Given the description of an element on the screen output the (x, y) to click on. 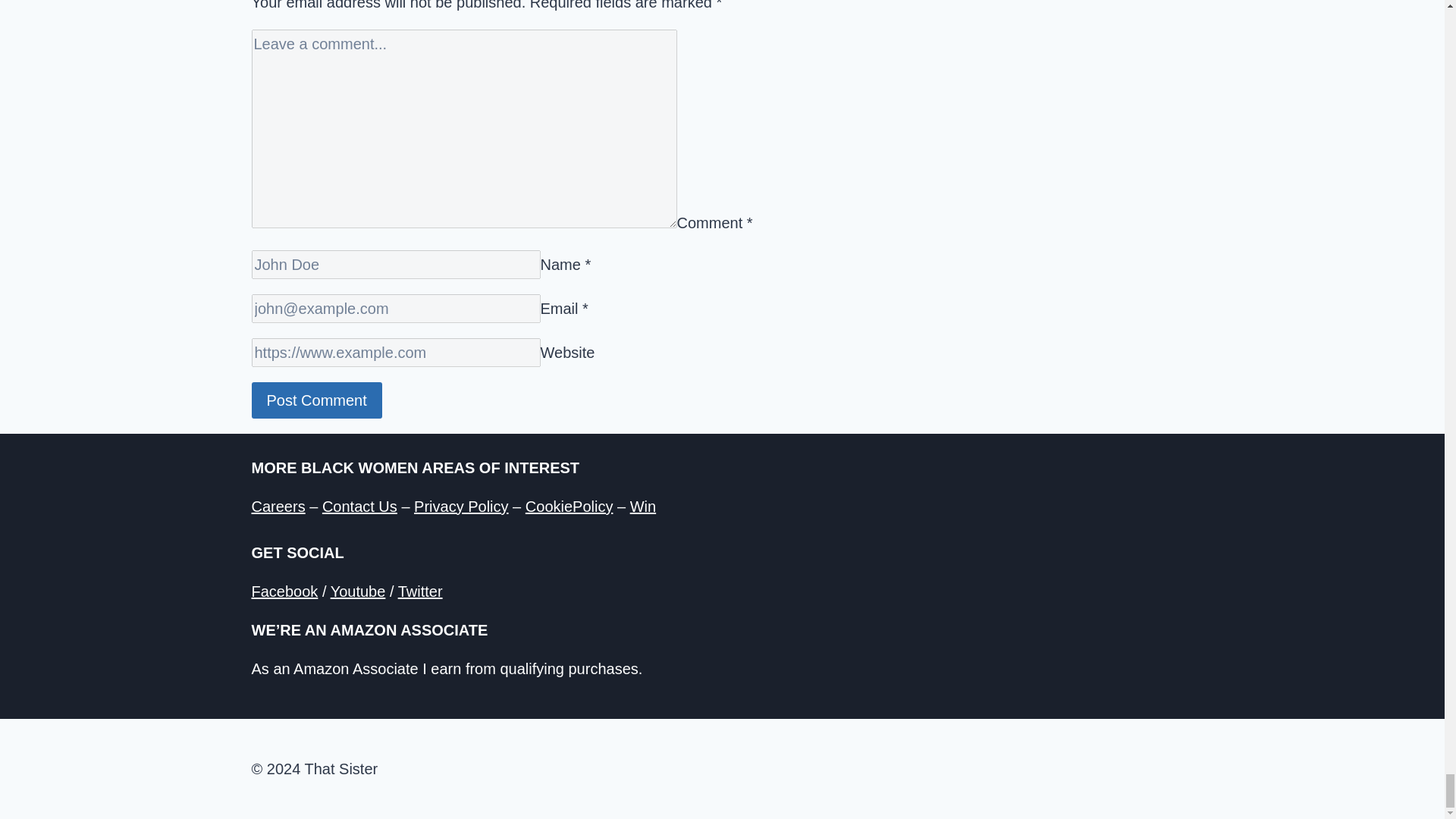
Post Comment (316, 400)
